Given the description of an element on the screen output the (x, y) to click on. 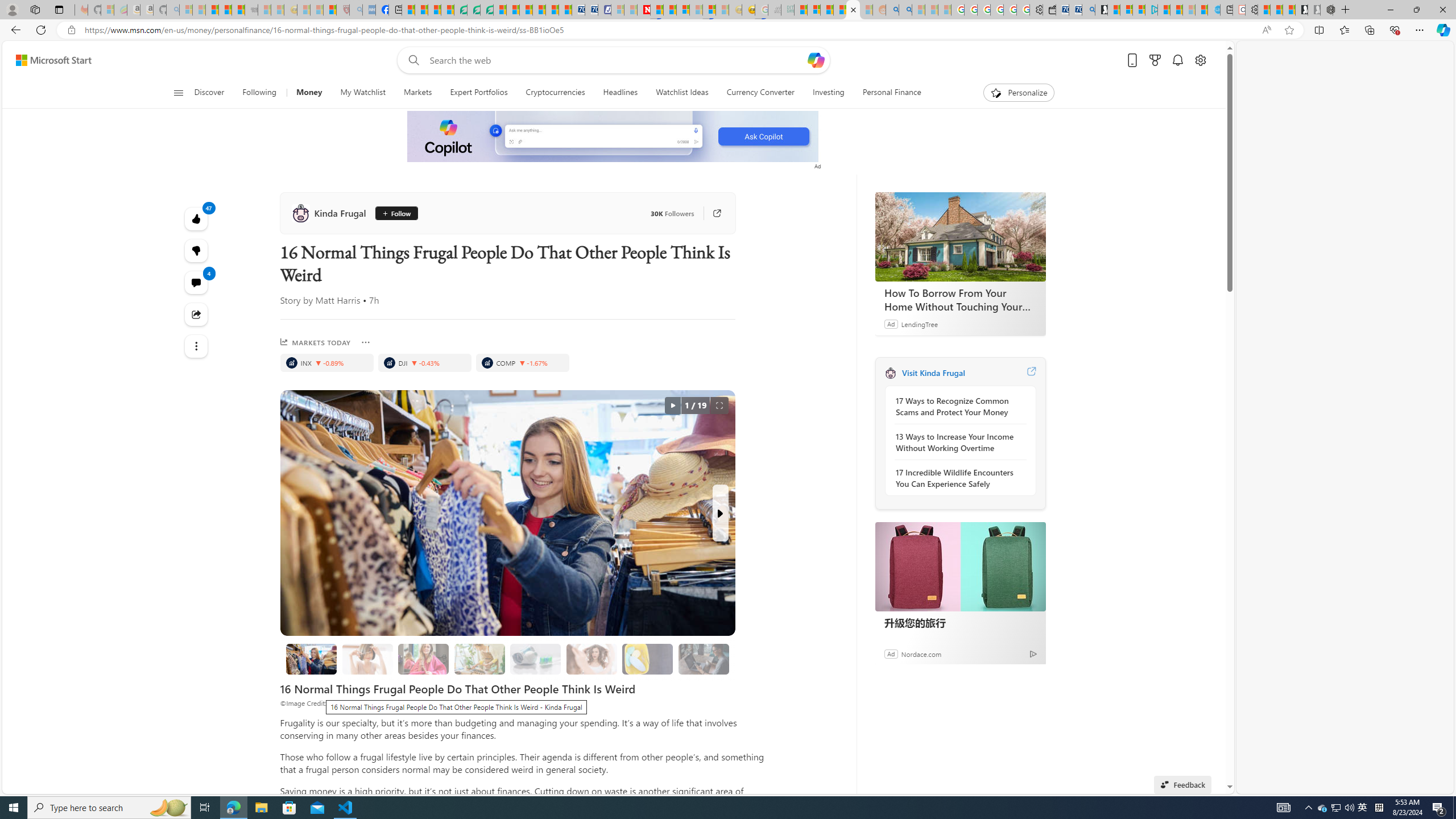
MSNBC - MSN (800, 9)
Address and search bar (669, 29)
Open navigation menu (177, 92)
To get missing image descriptions, open the context menu. (613, 136)
DJI, DOW. Price is 40,712.78. Decreased by -0.43% (424, 362)
Investing (828, 92)
World - MSN (434, 9)
Recipes - MSN - Sleeping (303, 9)
Bing Real Estate - Home sales and rental listings (1088, 9)
